Given the description of an element on the screen output the (x, y) to click on. 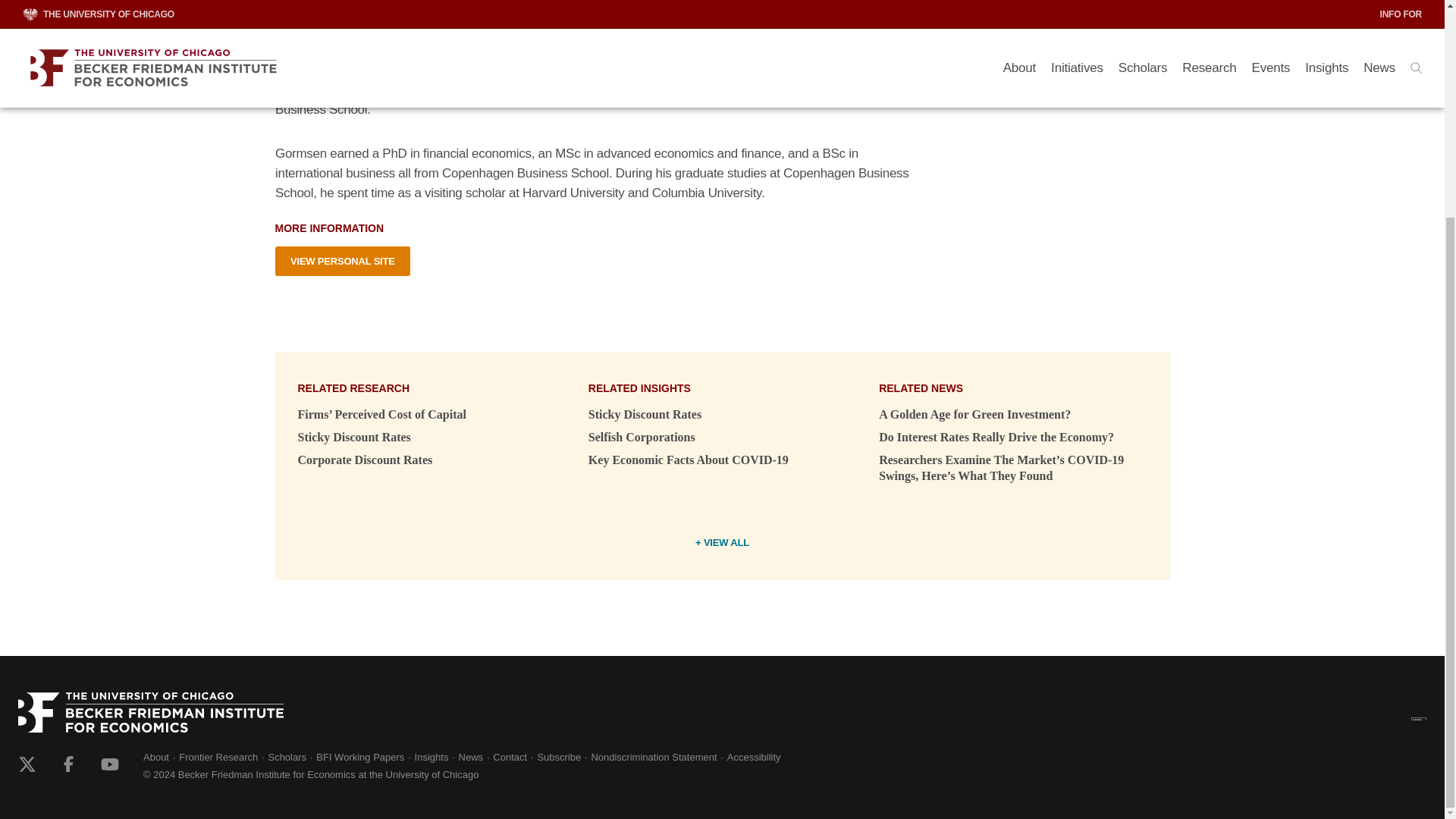
x-twitter (26, 764)
youtube (109, 764)
facebook (69, 763)
